Given the description of an element on the screen output the (x, y) to click on. 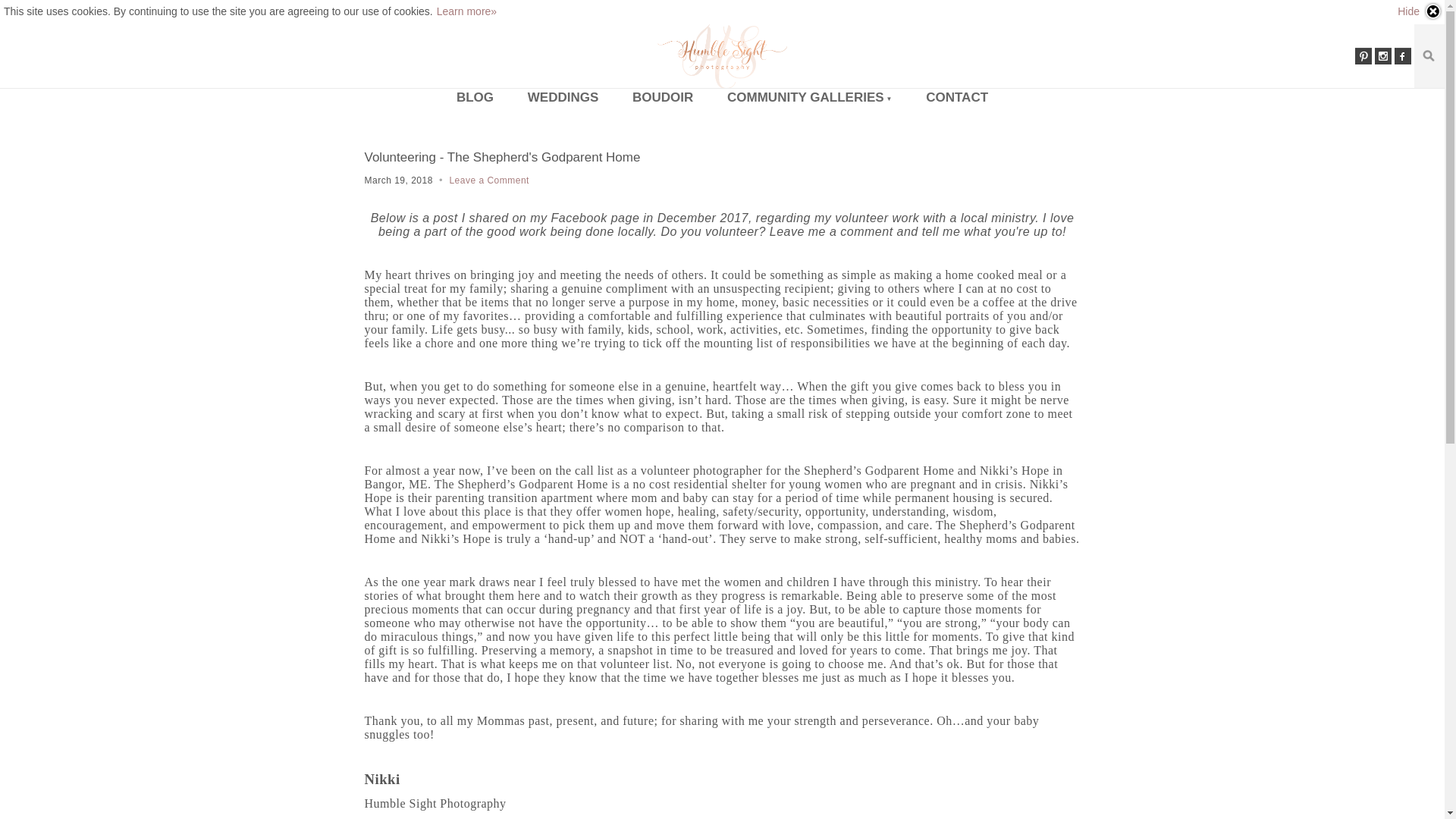
BOUDOIR (662, 96)
BLOG (474, 96)
CONTACT (957, 96)
WEDDINGS (563, 96)
Leave a Comment (488, 179)
Hide (1419, 11)
